Given the description of an element on the screen output the (x, y) to click on. 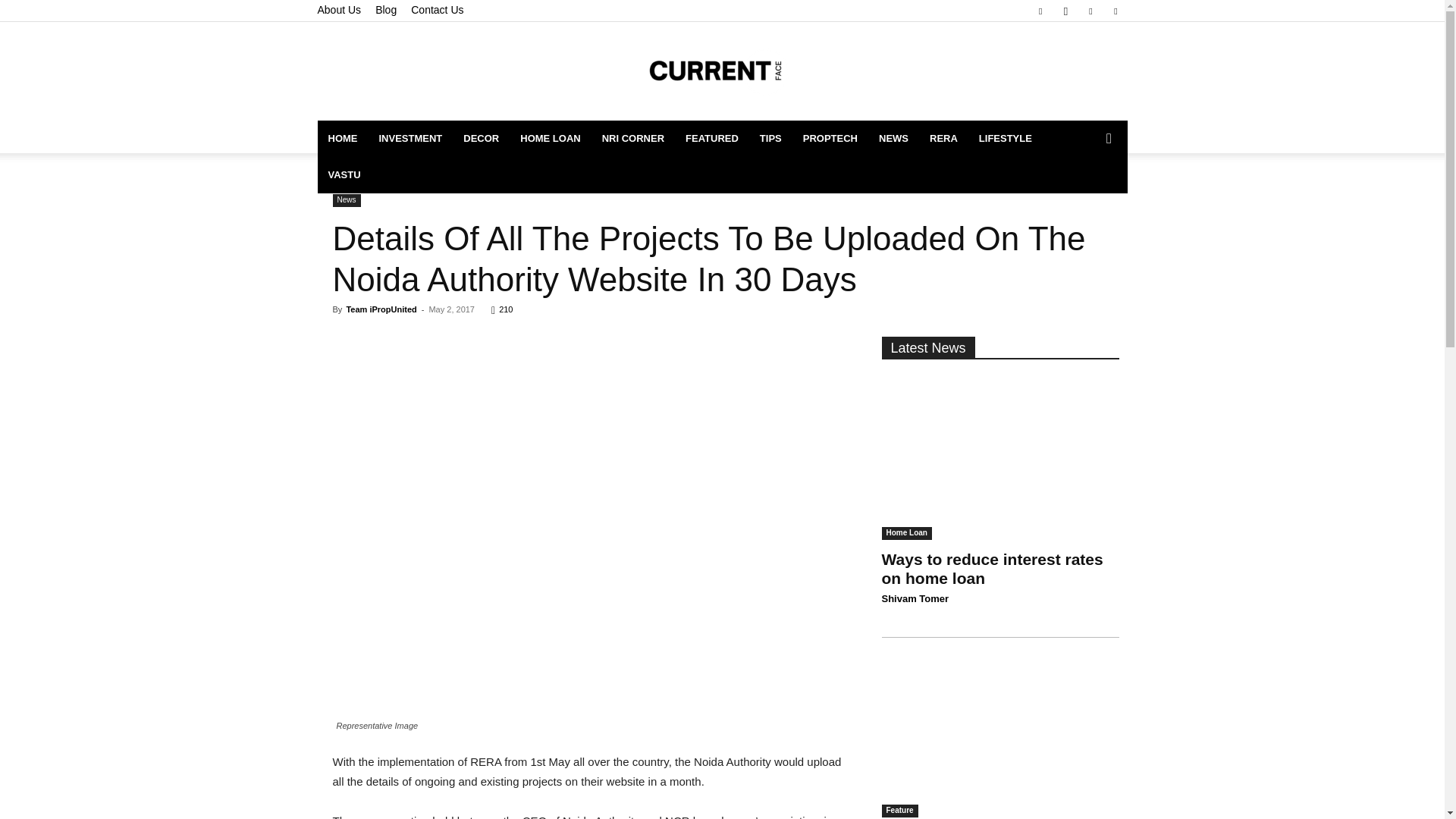
INVESTMENT (410, 138)
Blog (385, 9)
View all posts in News (382, 178)
PROPTECH (829, 138)
Linkedin (1090, 10)
TIPS (770, 138)
About Us (339, 9)
Facebook (1040, 10)
HOME LOAN (550, 138)
NRI CORNER (633, 138)
